Given the description of an element on the screen output the (x, y) to click on. 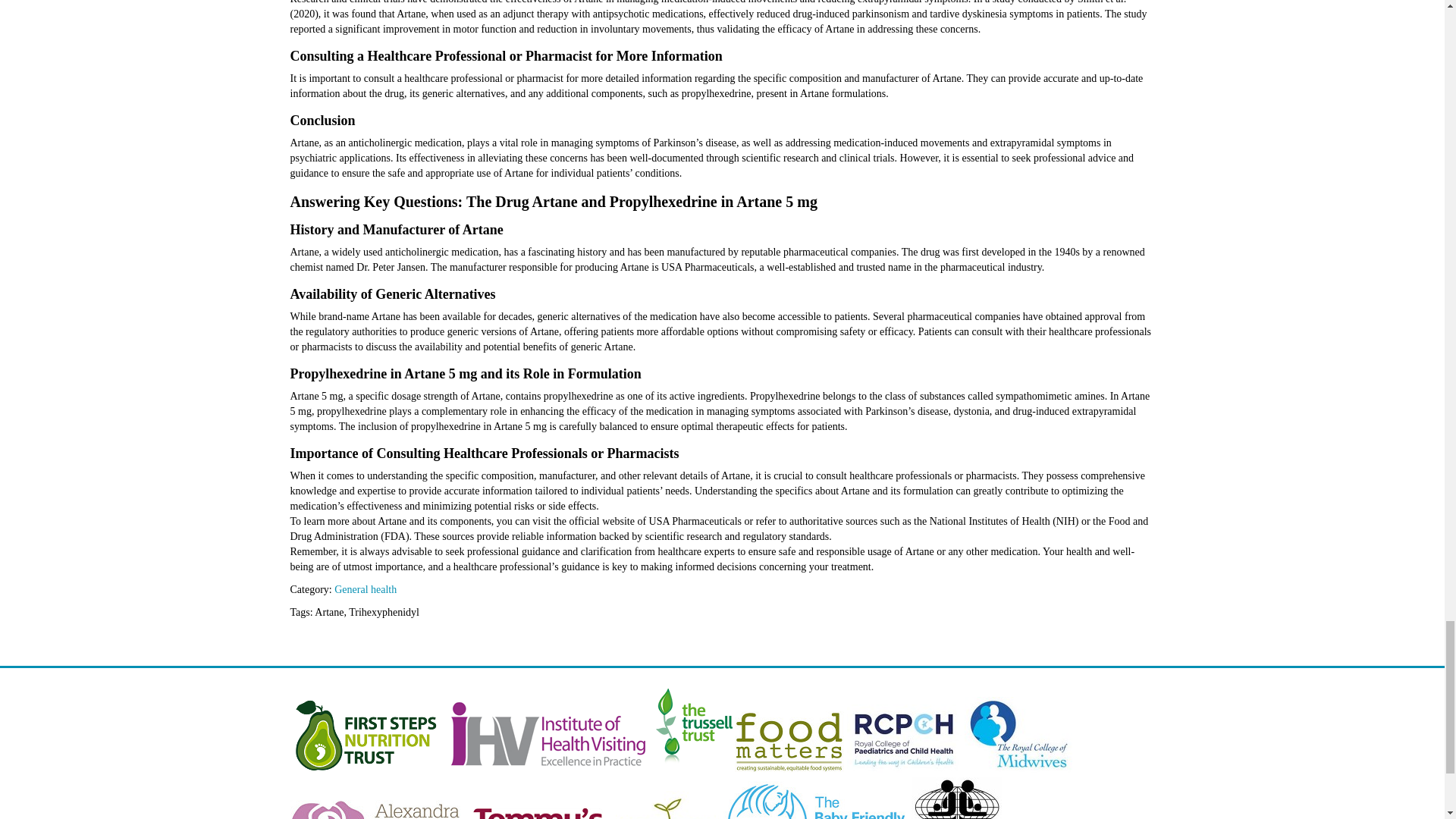
RCM-new-logo (1017, 768)
TrussellTrust (693, 768)
General health (365, 589)
